Given the description of an element on the screen output the (x, y) to click on. 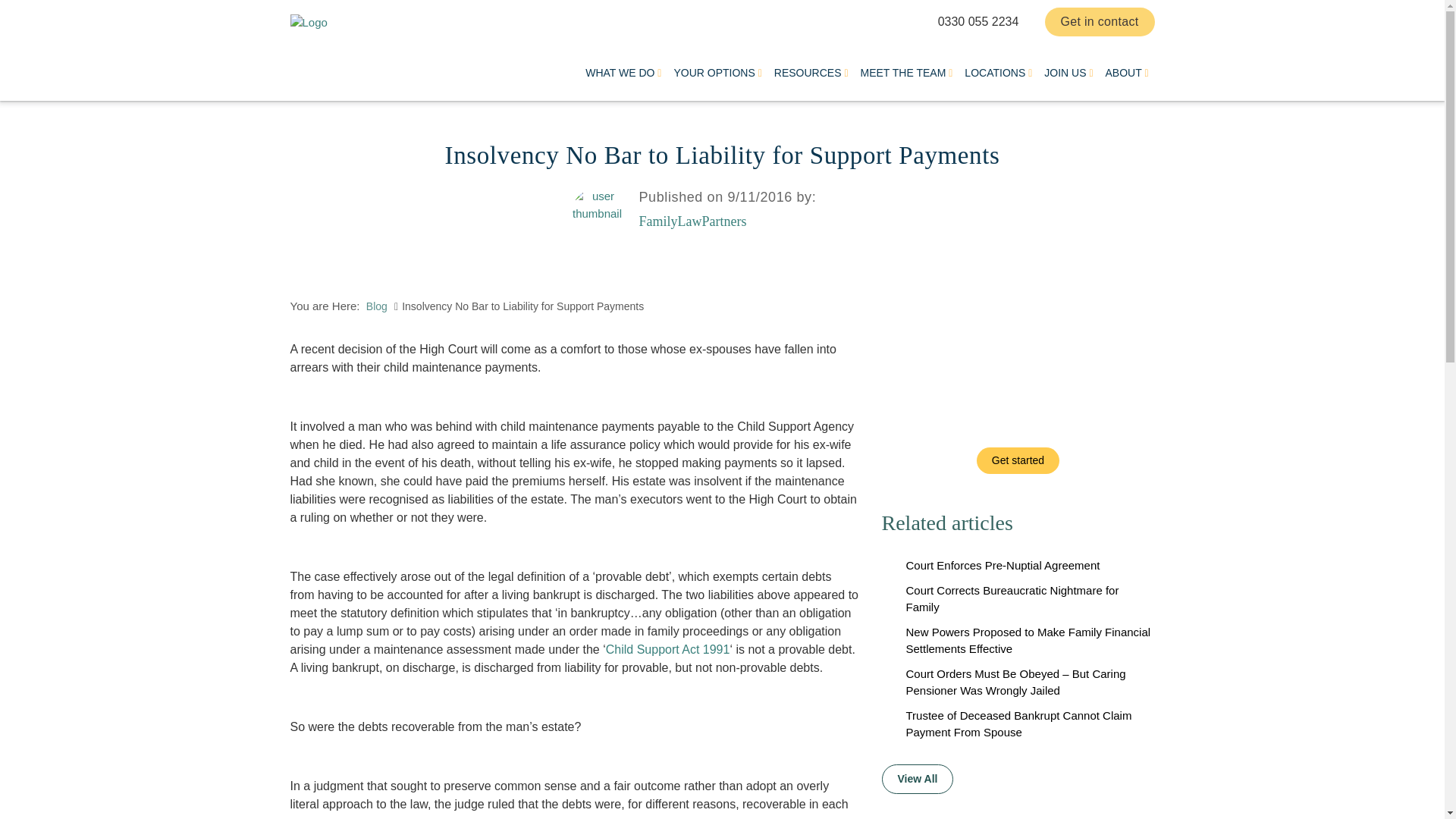
0330 055 2234 (978, 21)
MEET THE TEAM (906, 80)
Get in contact (1099, 21)
WHAT WE DO (622, 80)
RESOURCES (811, 80)
YOUR OPTIONS (716, 80)
